Given the description of an element on the screen output the (x, y) to click on. 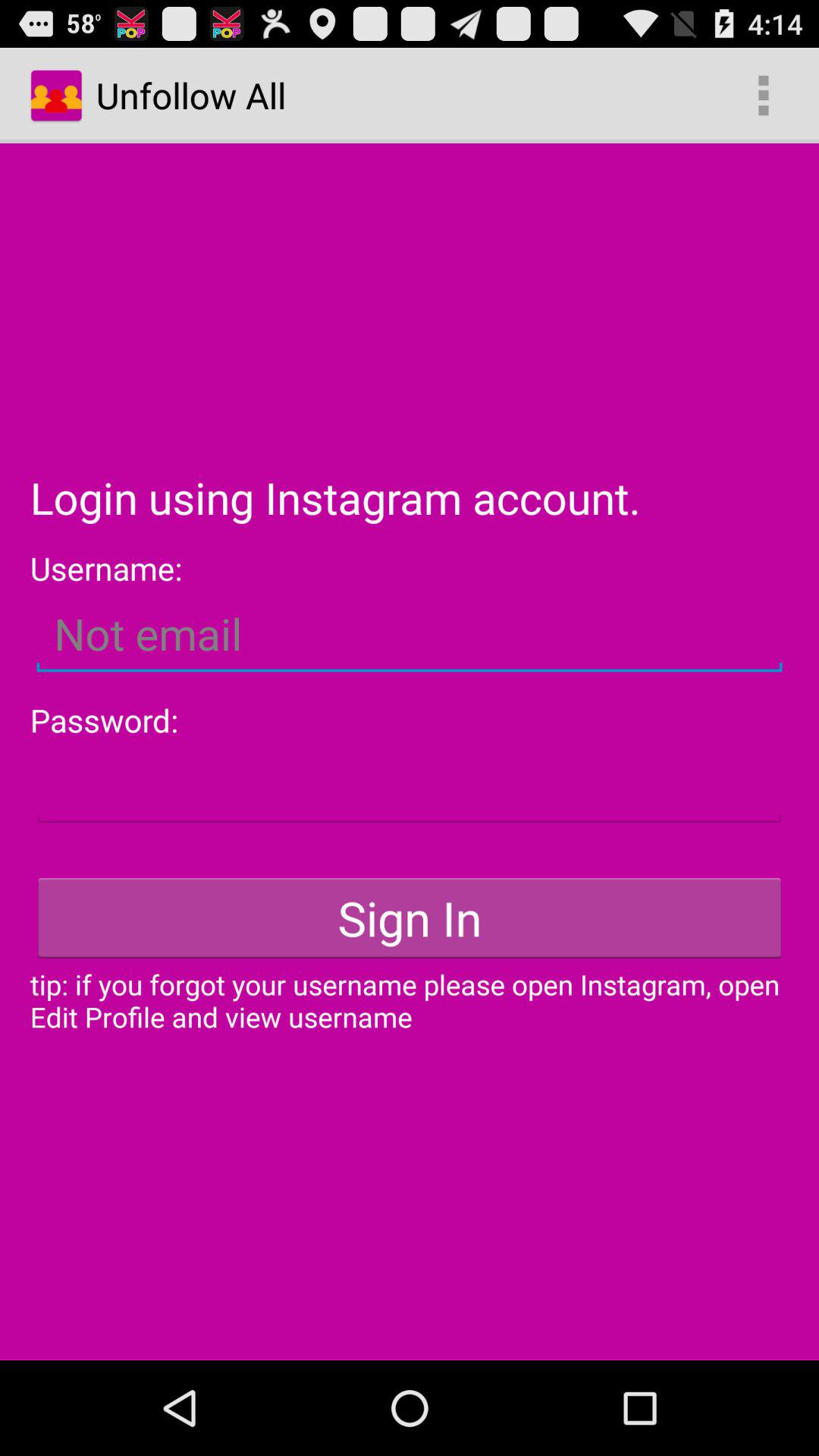
swipe to the sign in button (409, 917)
